Given the description of an element on the screen output the (x, y) to click on. 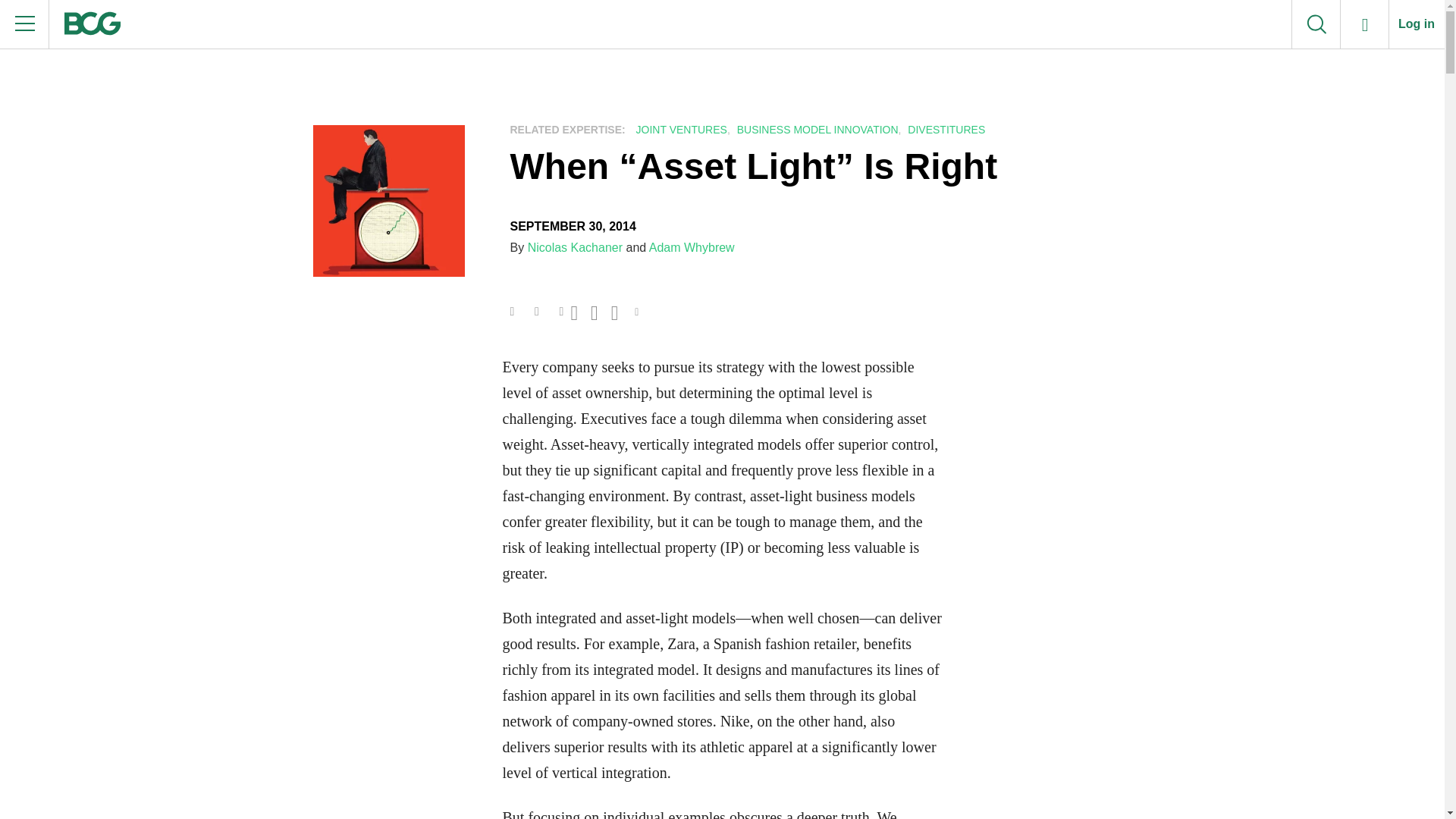
Adam Whybrew (692, 246)
JOINT VENTURES (678, 129)
BUSINESS MODEL INNOVATION (815, 129)
Nicolas Kachaner (575, 246)
DIVESTITURES (944, 129)
Log in (1416, 24)
